Given the description of an element on the screen output the (x, y) to click on. 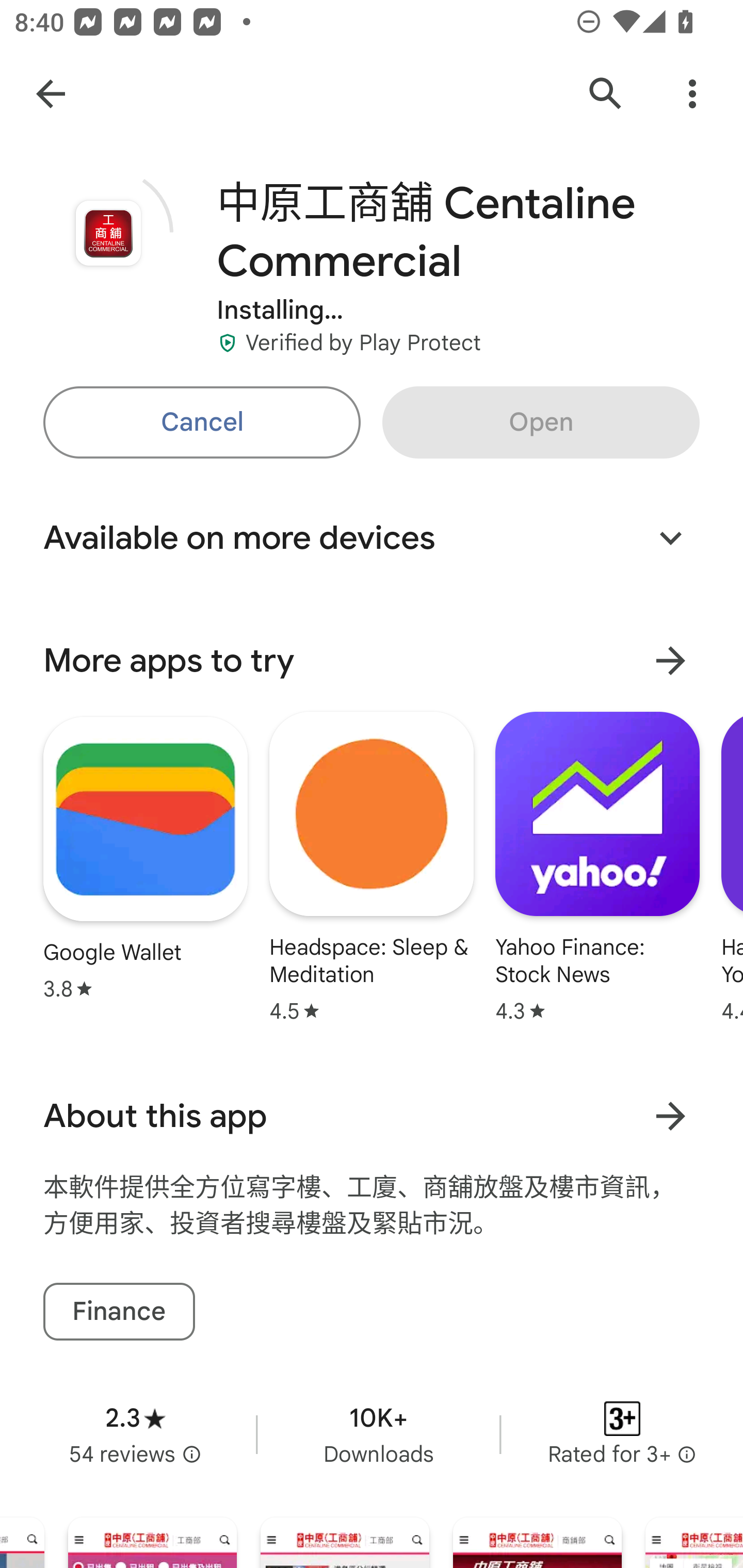
Navigate up (50, 93)
Search Google Play (605, 93)
More Options (692, 93)
Cancel (201, 422)
Open (540, 422)
Available on more devices Expand (371, 537)
Expand (670, 537)
More apps to try More results for More apps to try (371, 660)
More results for More apps to try (670, 660)
Google Wallet
Star rating: 3.8
 (145, 858)
Headspace: Sleep & Meditation
Star rating: 4.5
 (371, 866)
Yahoo Finance: Stock News
Star rating: 4.3
 (597, 866)
About this app Learn more About this app (371, 1116)
Learn more About this app (670, 1115)
Finance tag (118, 1311)
Average rating 2.3 stars in 54 reviews (135, 1434)
Content rating Rated for 3+ (622, 1434)
